Given the description of an element on the screen output the (x, y) to click on. 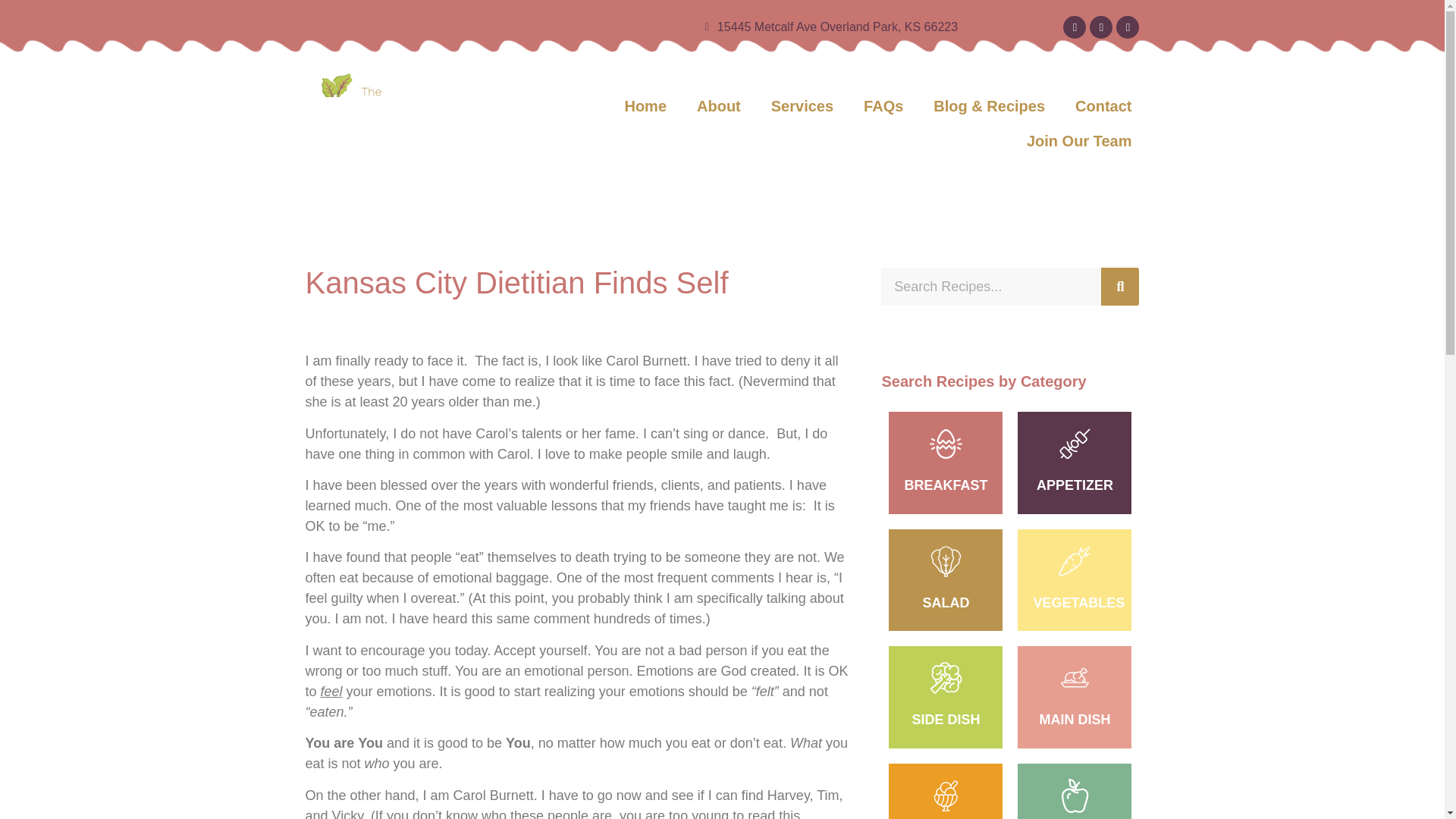
Services (801, 105)
15445 Metcalf Ave Overland Park, KS 66223 (631, 27)
About (718, 105)
FAQs (883, 105)
Join Our Team (1079, 140)
Contact (1103, 105)
Home (644, 105)
